Given the description of an element on the screen output the (x, y) to click on. 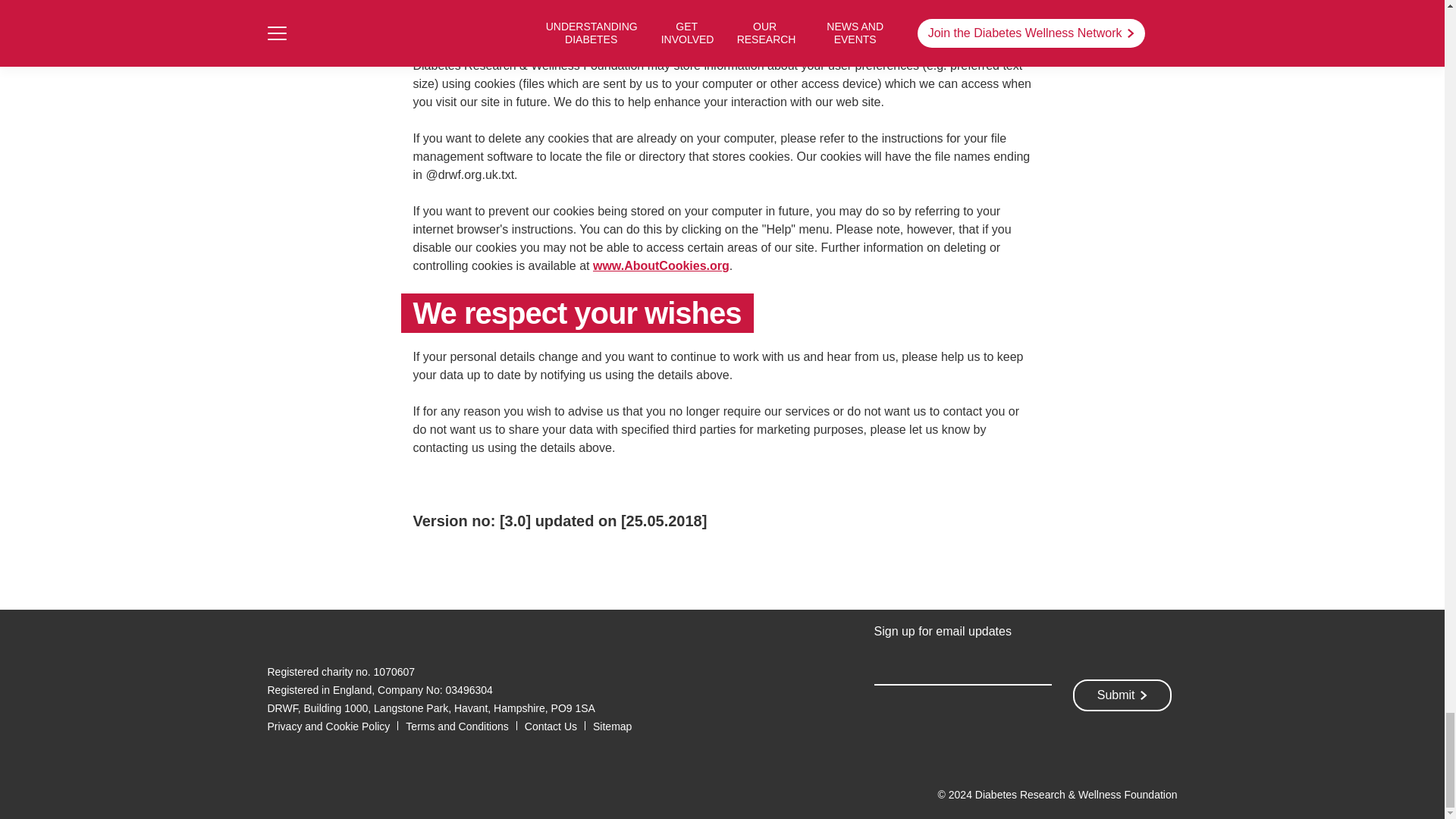
X (307, 635)
Submit (1122, 695)
YouTube (377, 635)
Facebook (274, 635)
Instagram (340, 635)
